Given the description of an element on the screen output the (x, y) to click on. 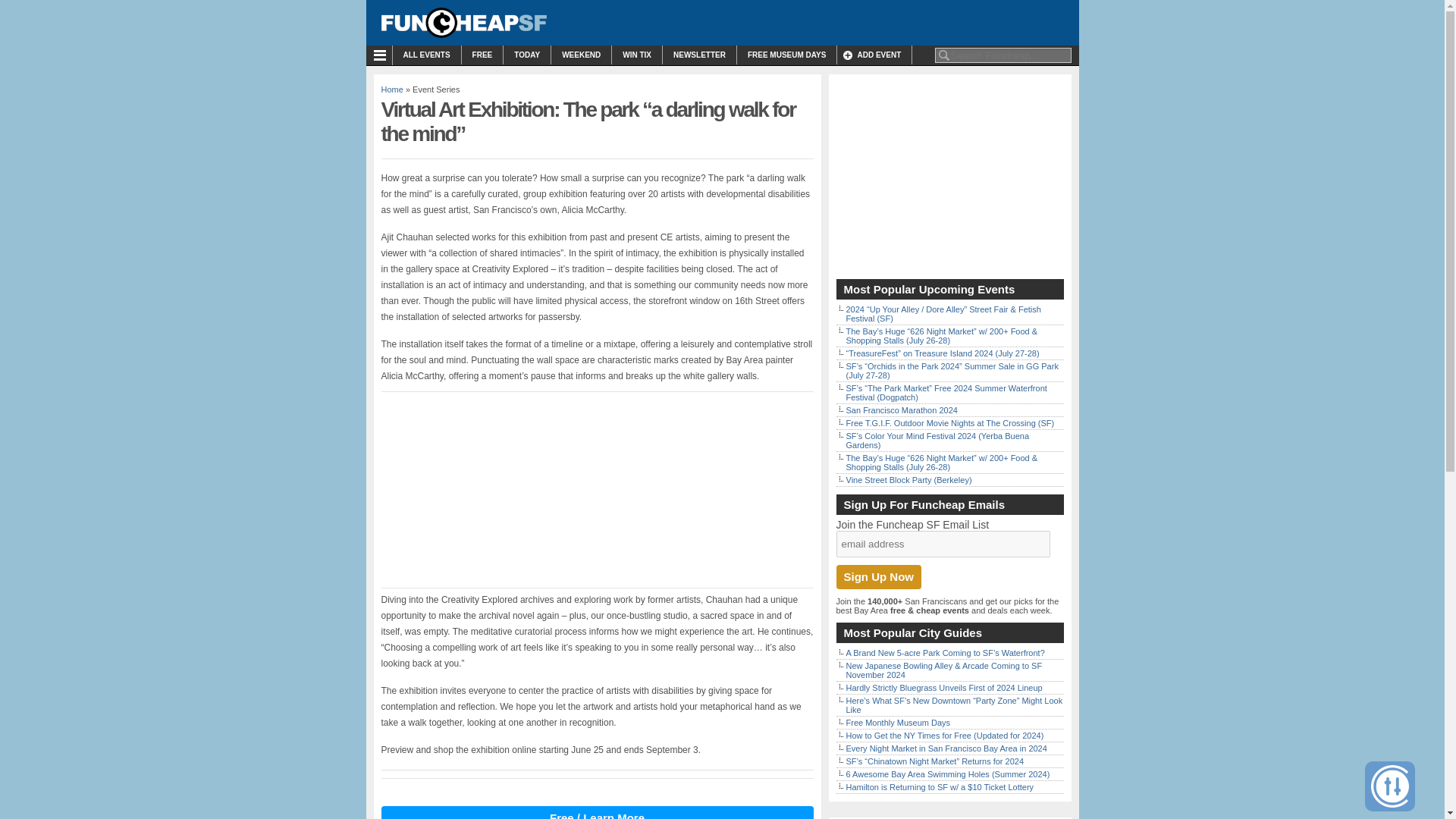
Sub-Menu Toggle (381, 55)
3rd party ad content (948, 176)
WIN TIX (636, 54)
FREE MUSEUM DAYS (786, 54)
ALL EVENTS (427, 54)
FREE (482, 54)
San Francisco Marathon 2024 (901, 409)
Home (391, 89)
MENU (381, 55)
TODAY (526, 54)
WEEKEND (581, 54)
Sign Up Now (878, 576)
Hardly Strictly Bluegrass Unveils First of 2024 Lineup (943, 687)
ADD EVENT (874, 54)
NEWSLETTER (699, 54)
